Given the description of an element on the screen output the (x, y) to click on. 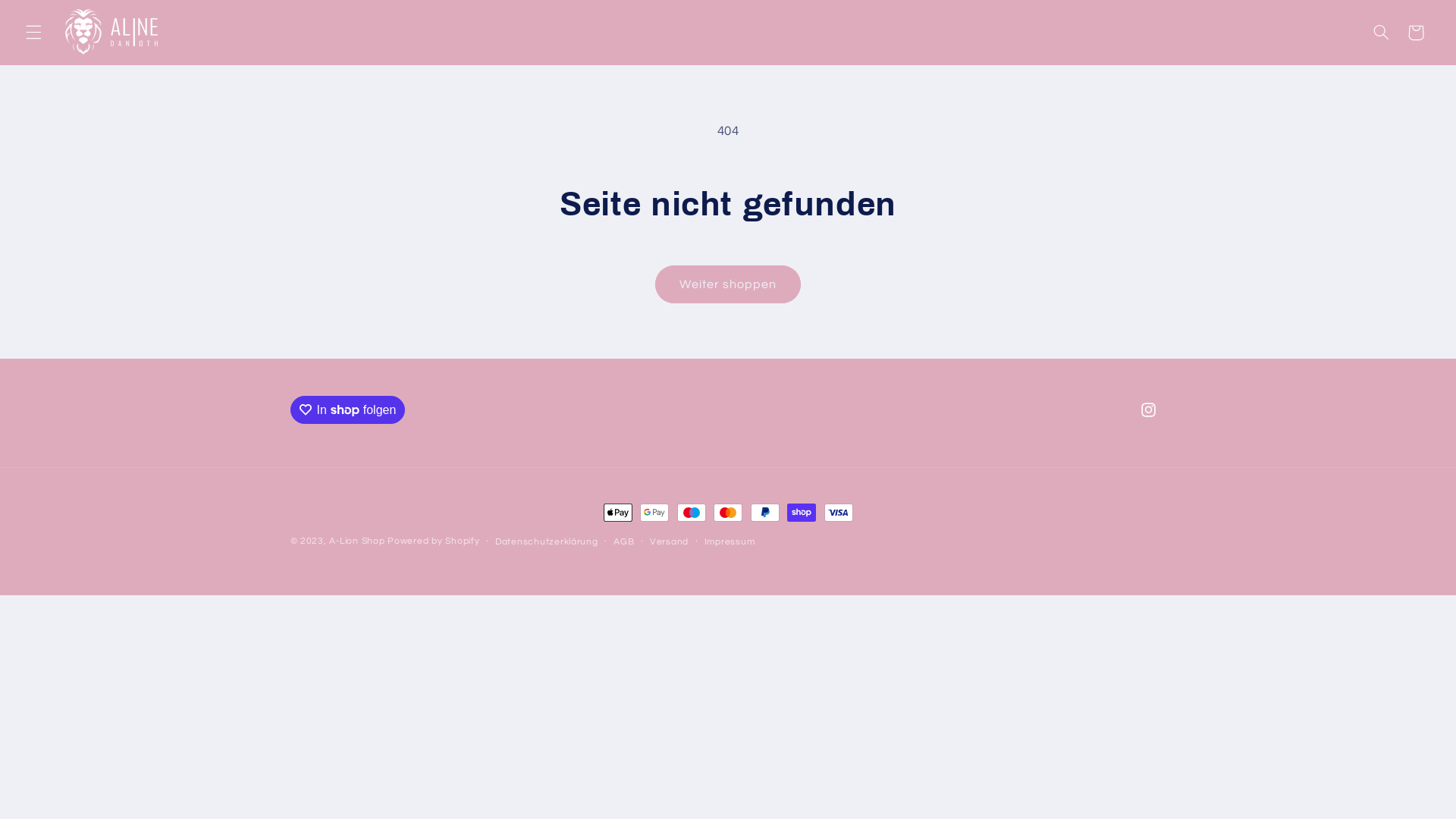
Instagram Element type: text (1147, 409)
A-Lion Shop Element type: text (356, 540)
Weiter shoppen Element type: text (727, 283)
Impressum Element type: text (729, 541)
Warenkorb Element type: text (1415, 32)
AGB Element type: text (623, 541)
Versand Element type: text (668, 541)
